Given the description of an element on the screen output the (x, y) to click on. 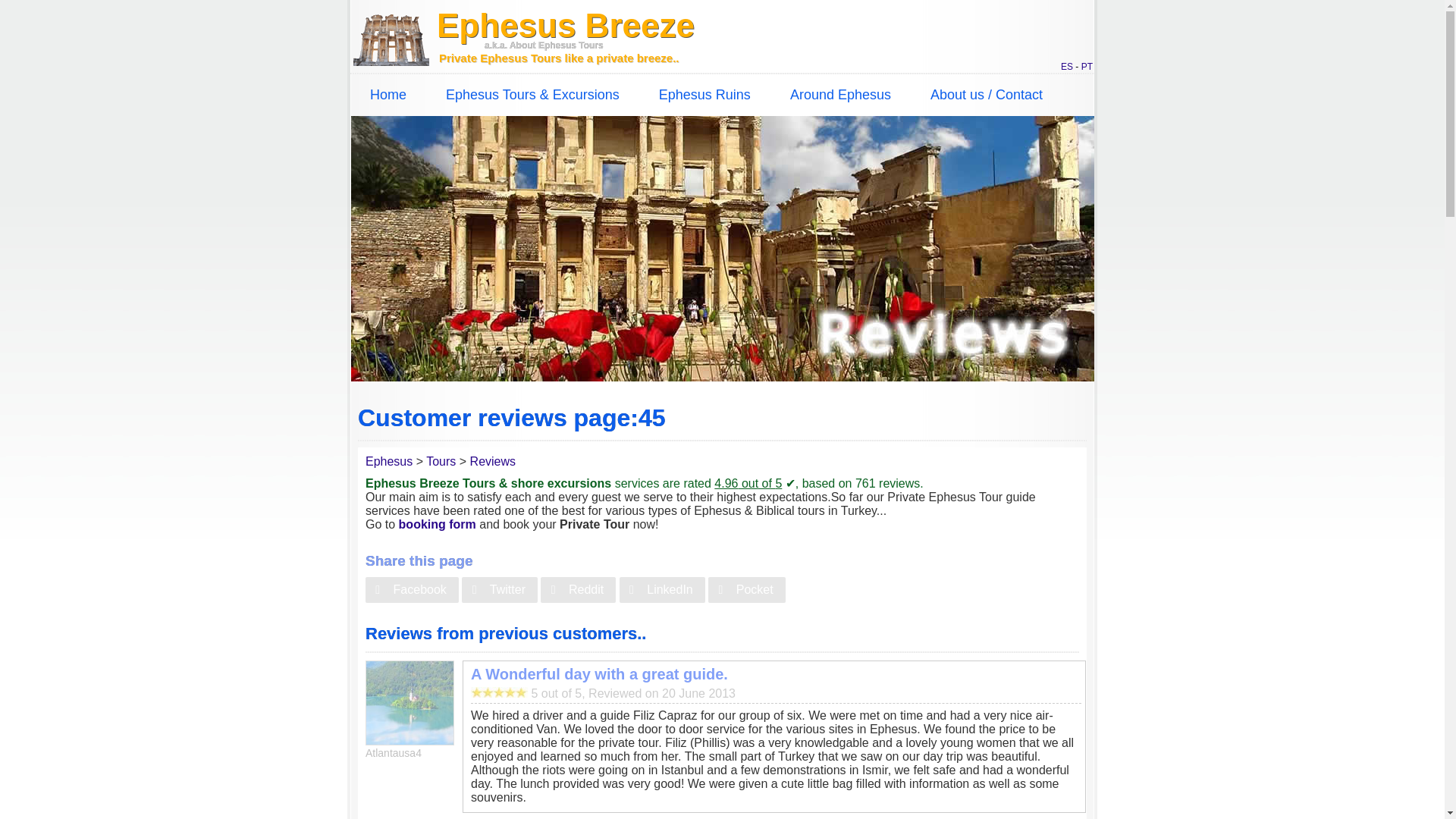
Share on Twitter (499, 589)
LinkedIn (662, 589)
Share on Facebook (411, 589)
About Ephesus Ancient Ruins (704, 94)
Reviews (492, 461)
Reddit (577, 589)
Pocket (745, 589)
Around Ephesus (839, 94)
ES (1067, 66)
Submit to Reddit (577, 589)
Ephesus (390, 461)
Price quote form for Ephesus Tours (437, 523)
Tours (443, 461)
Share on LinkedIn (662, 589)
Ephesus (390, 461)
